Given the description of an element on the screen output the (x, y) to click on. 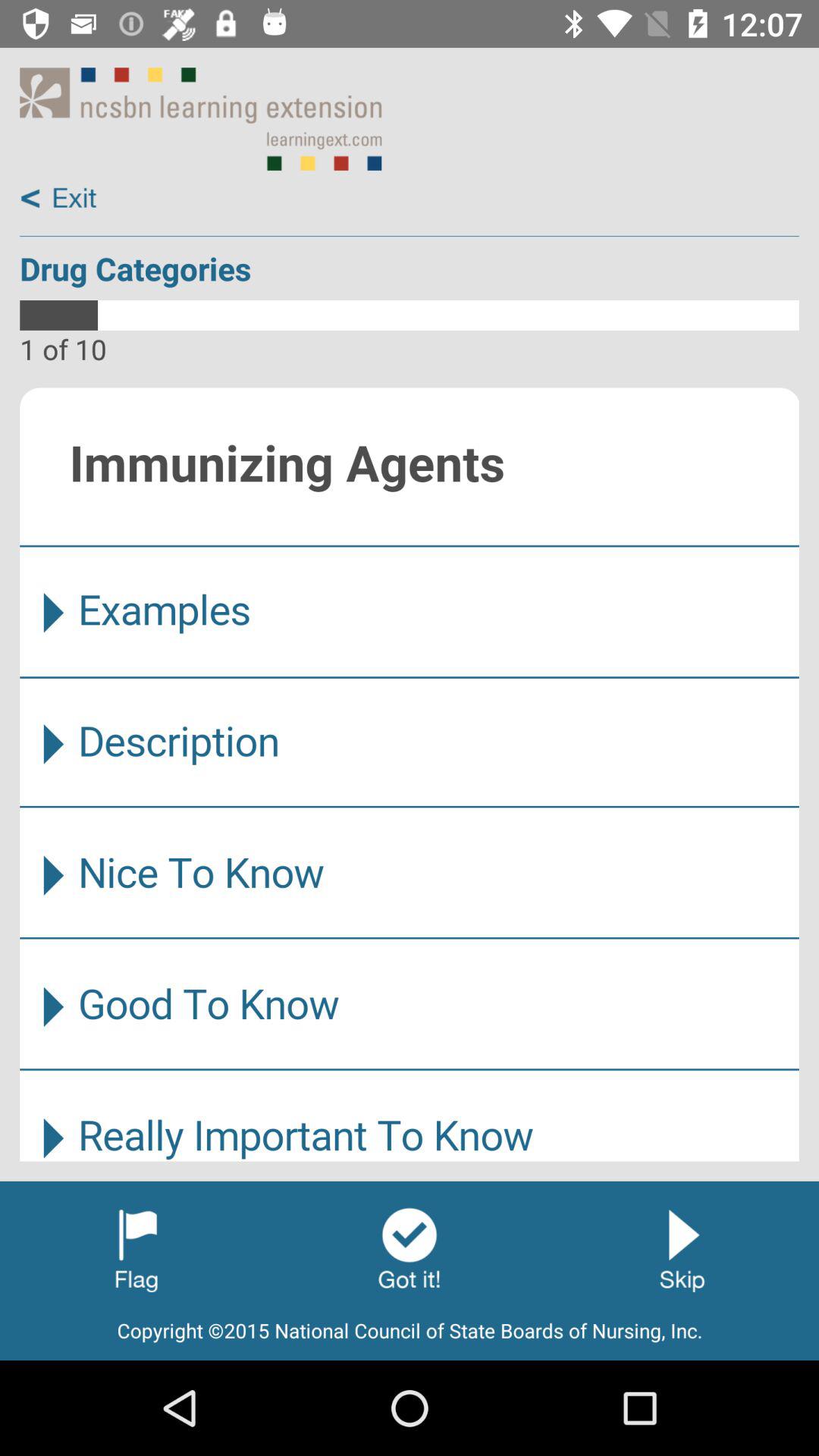
skip page (682, 1248)
